Given the description of an element on the screen output the (x, y) to click on. 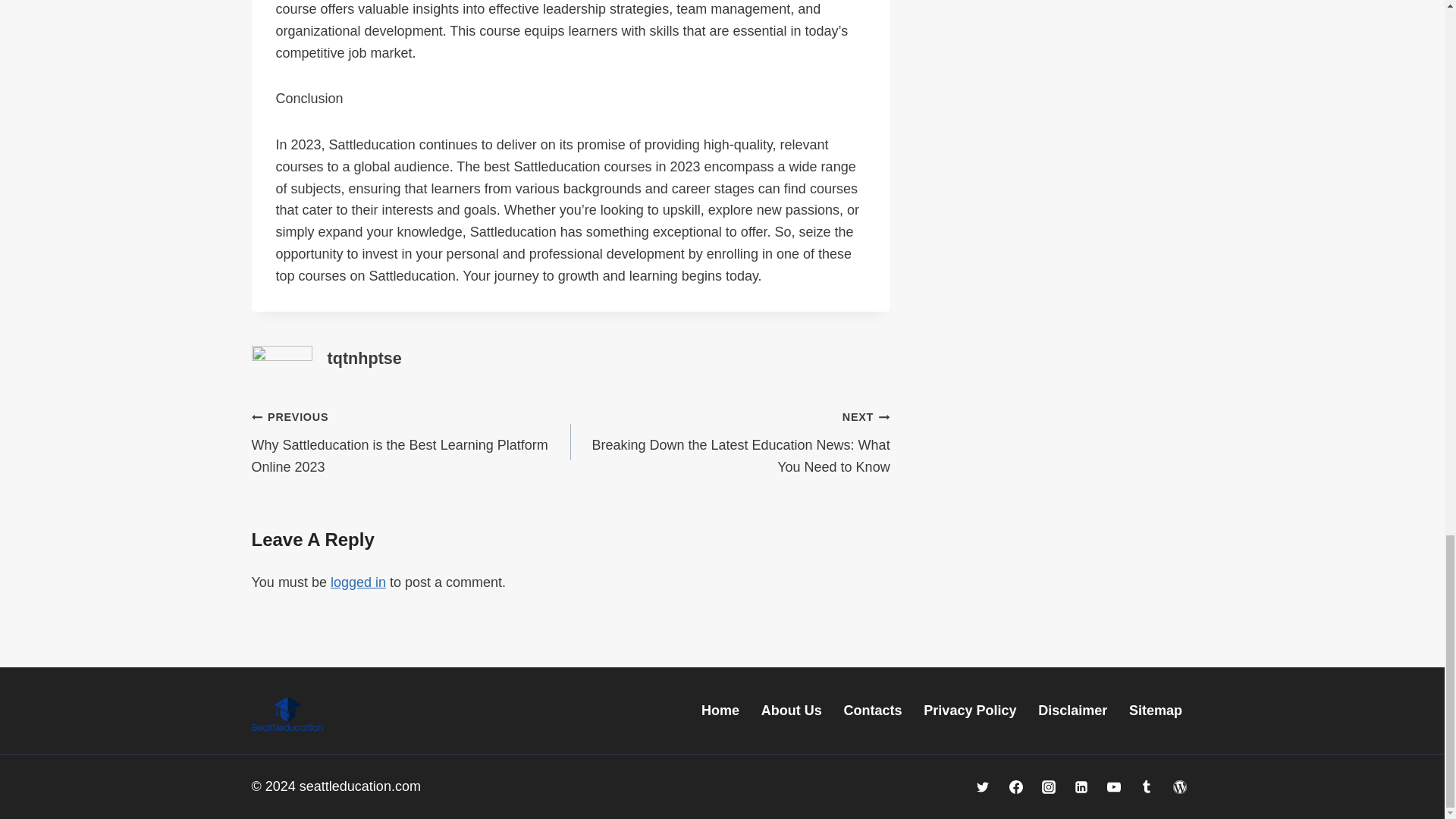
tqtnhptse (364, 357)
Posts by tqtnhptse (364, 357)
